Given the description of an element on the screen output the (x, y) to click on. 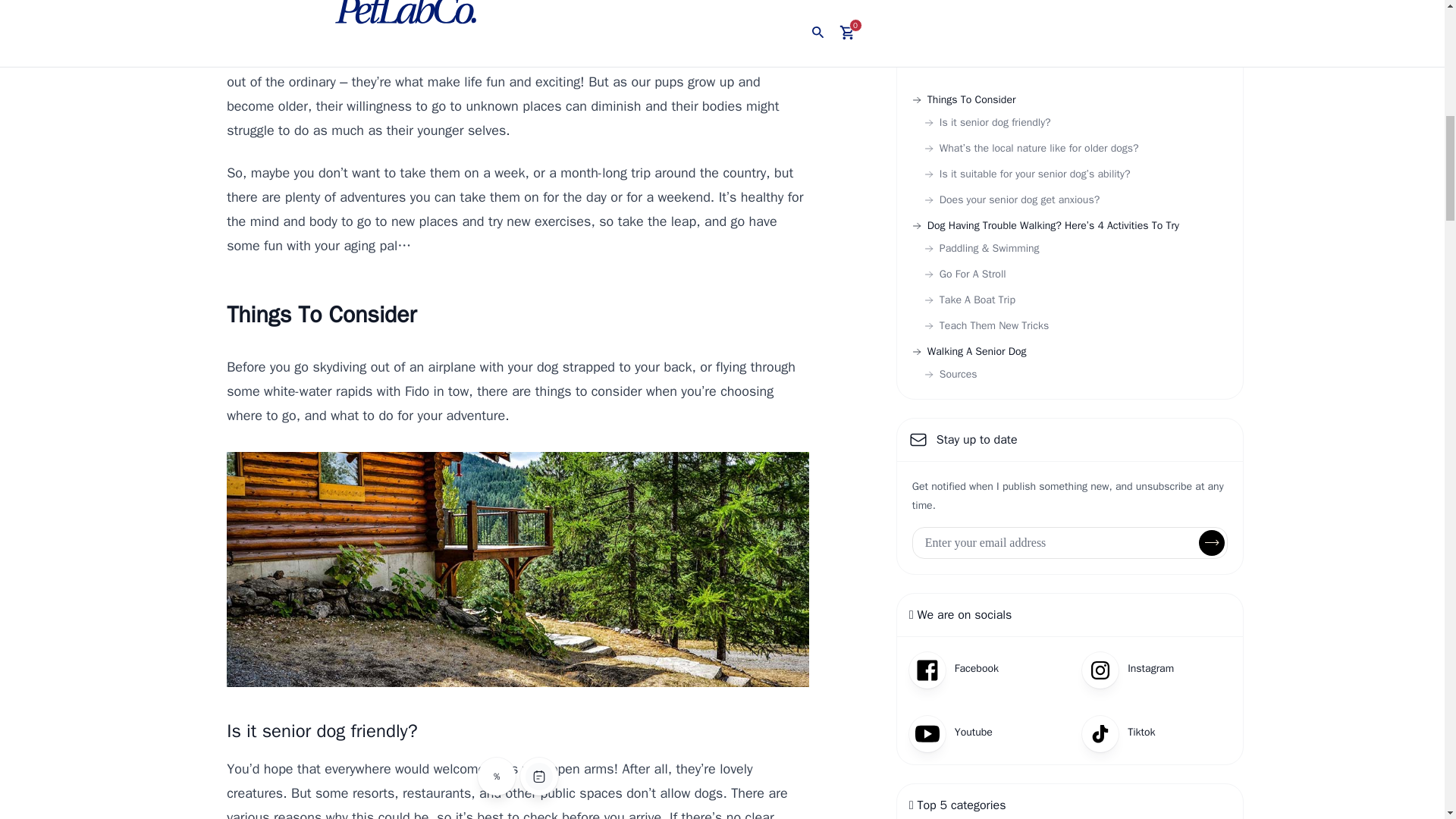
Teach Them New Tricks (986, 325)
Is it senior dog friendly? (987, 122)
Go For A Stroll (965, 273)
Go to top (497, 62)
Table of contents (539, 62)
Sources (950, 374)
Does your senior dog get anxious? (1011, 200)
Walking A Senior Dog (969, 351)
Take A Boat Trip (969, 299)
Things To Consider (964, 99)
